Given the description of an element on the screen output the (x, y) to click on. 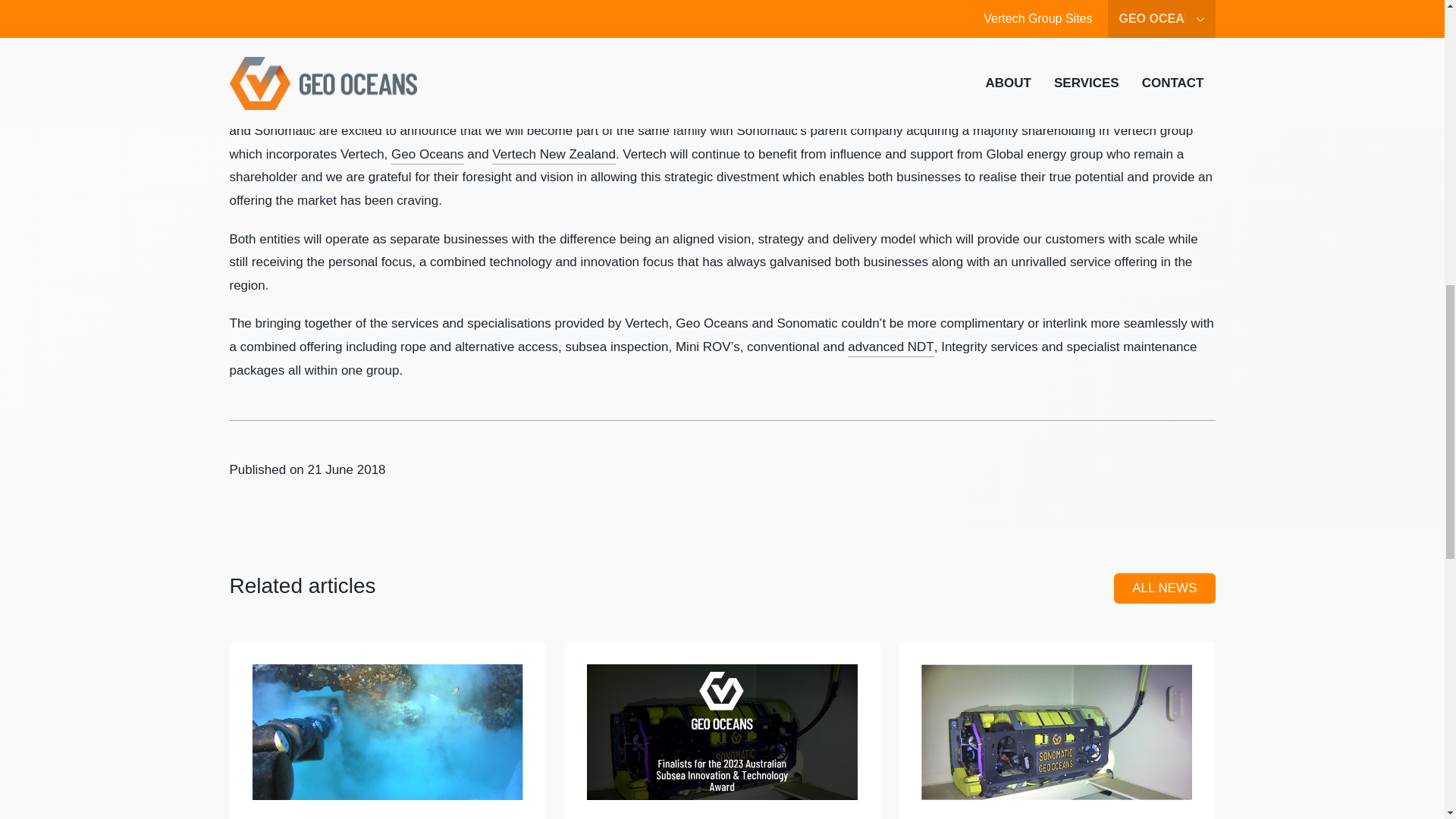
Vertech New Zealand (553, 154)
Vertech (250, 107)
advanced NDT (890, 347)
Sonomatic (331, 107)
Geo Oceans (427, 154)
